Given the description of an element on the screen output the (x, y) to click on. 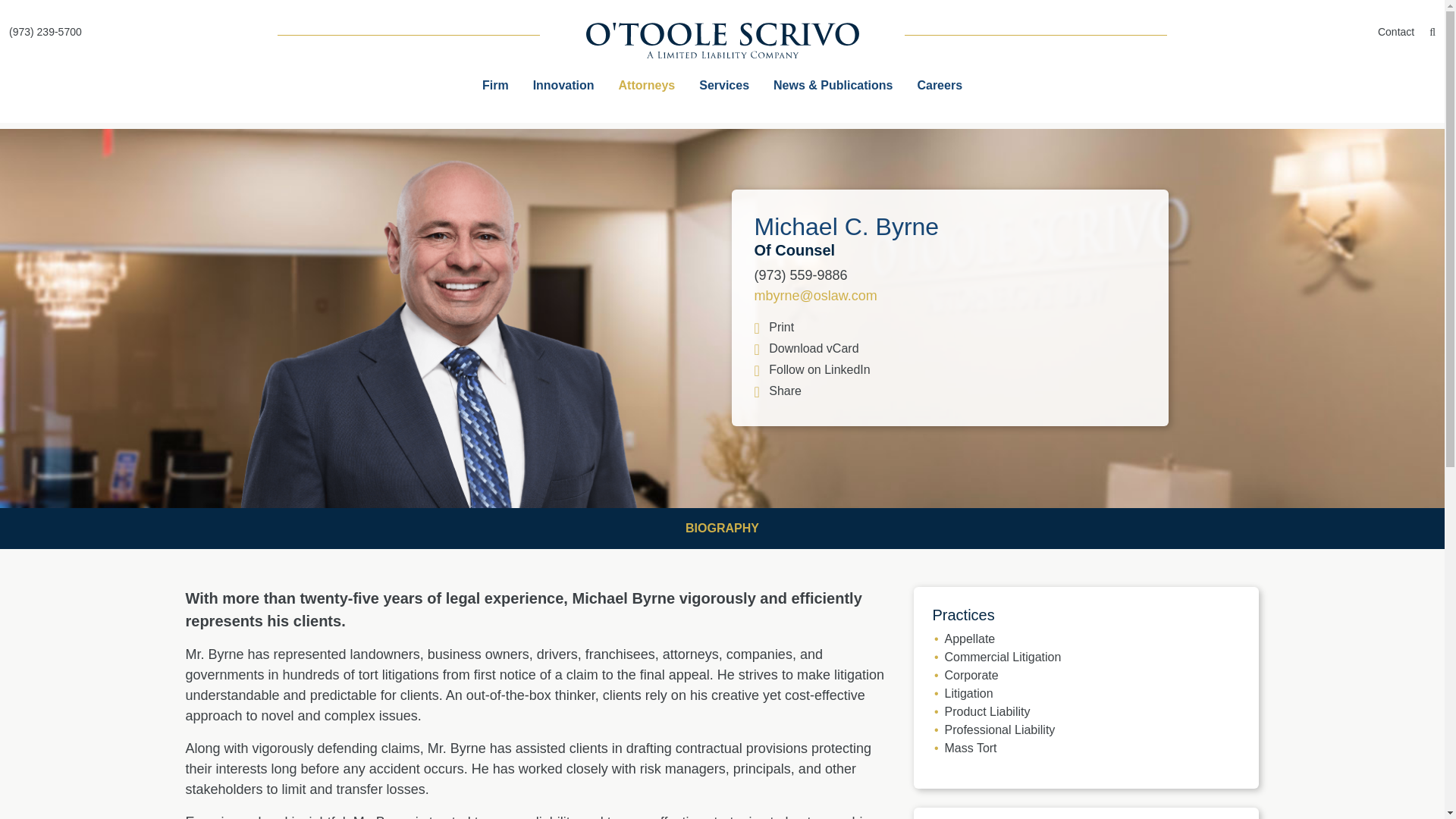
Litigation (968, 693)
BIOGRAPHY (721, 527)
Innovation (564, 85)
Follow on LinkedIn (811, 369)
Firm (495, 85)
Attorneys (647, 85)
Corporate (971, 675)
Commercial Litigation (1002, 656)
Download vCard (949, 348)
Careers (939, 85)
